Given the description of an element on the screen output the (x, y) to click on. 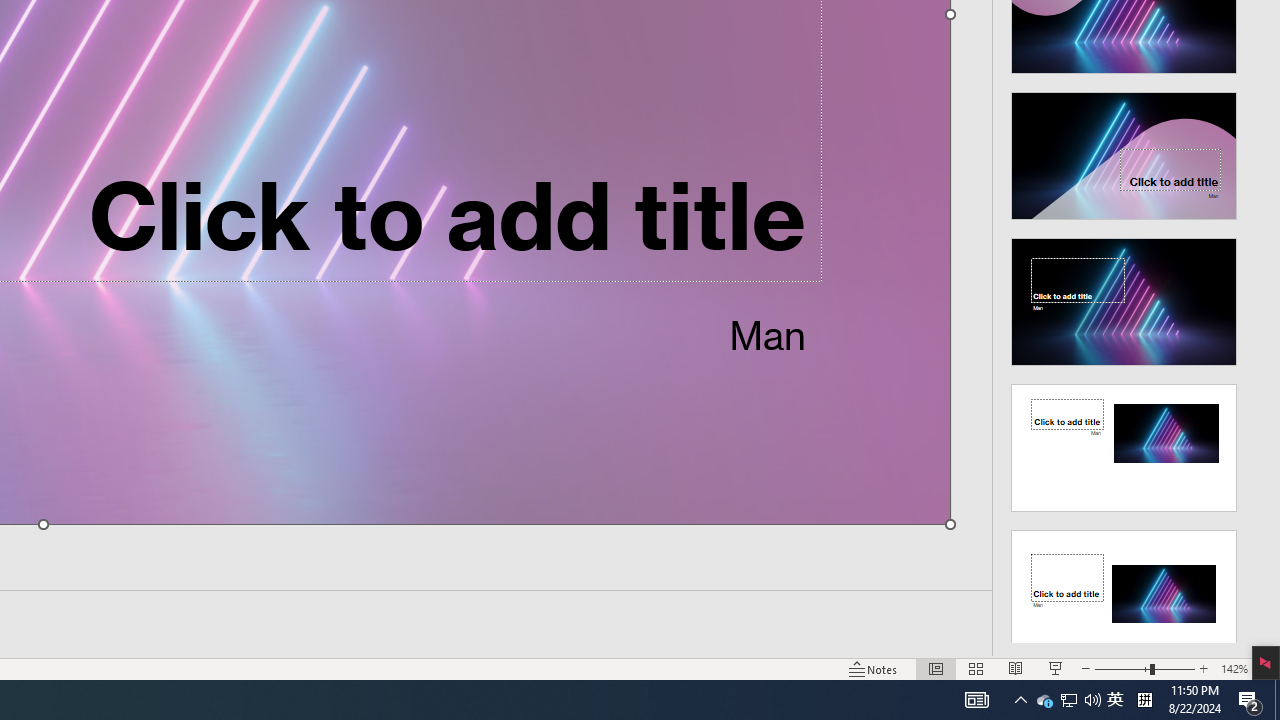
Zoom 142% (1234, 668)
